Given the description of an element on the screen output the (x, y) to click on. 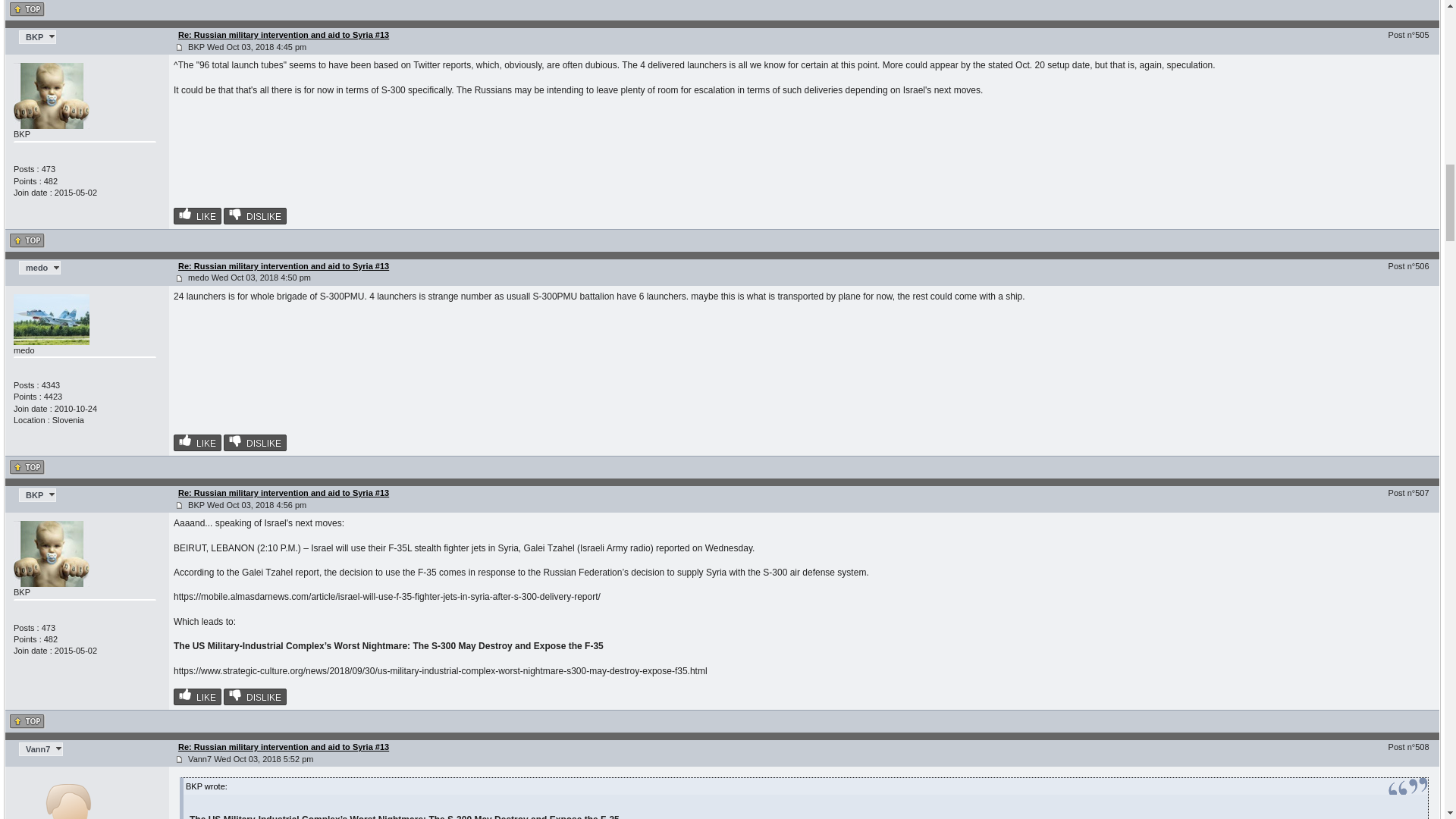
Post (178, 278)
Post (178, 758)
Post (178, 505)
Post (178, 47)
